Given the description of an element on the screen output the (x, y) to click on. 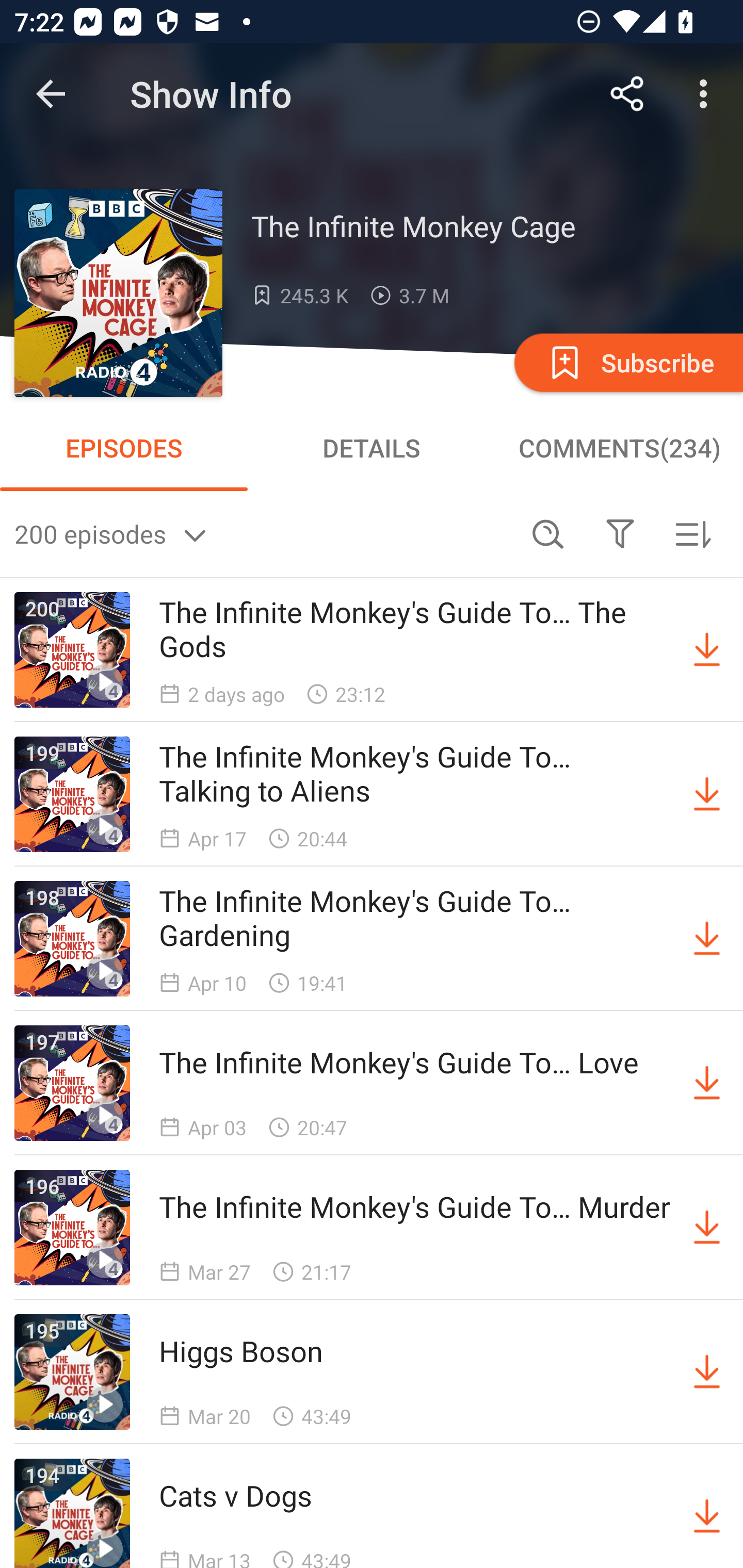
Navigate up (50, 93)
Share (626, 93)
More options (706, 93)
Subscribe (627, 361)
EPISODES (123, 447)
DETAILS (371, 447)
COMMENTS(234) (619, 447)
200 episodes  (262, 533)
 Search (547, 533)
 (619, 533)
 Sorted by newest first (692, 533)
Download (706, 649)
Download (706, 793)
Download (706, 939)
Download (706, 1083)
Download (706, 1227)
Download (706, 1371)
Download (706, 1513)
